Given the description of an element on the screen output the (x, y) to click on. 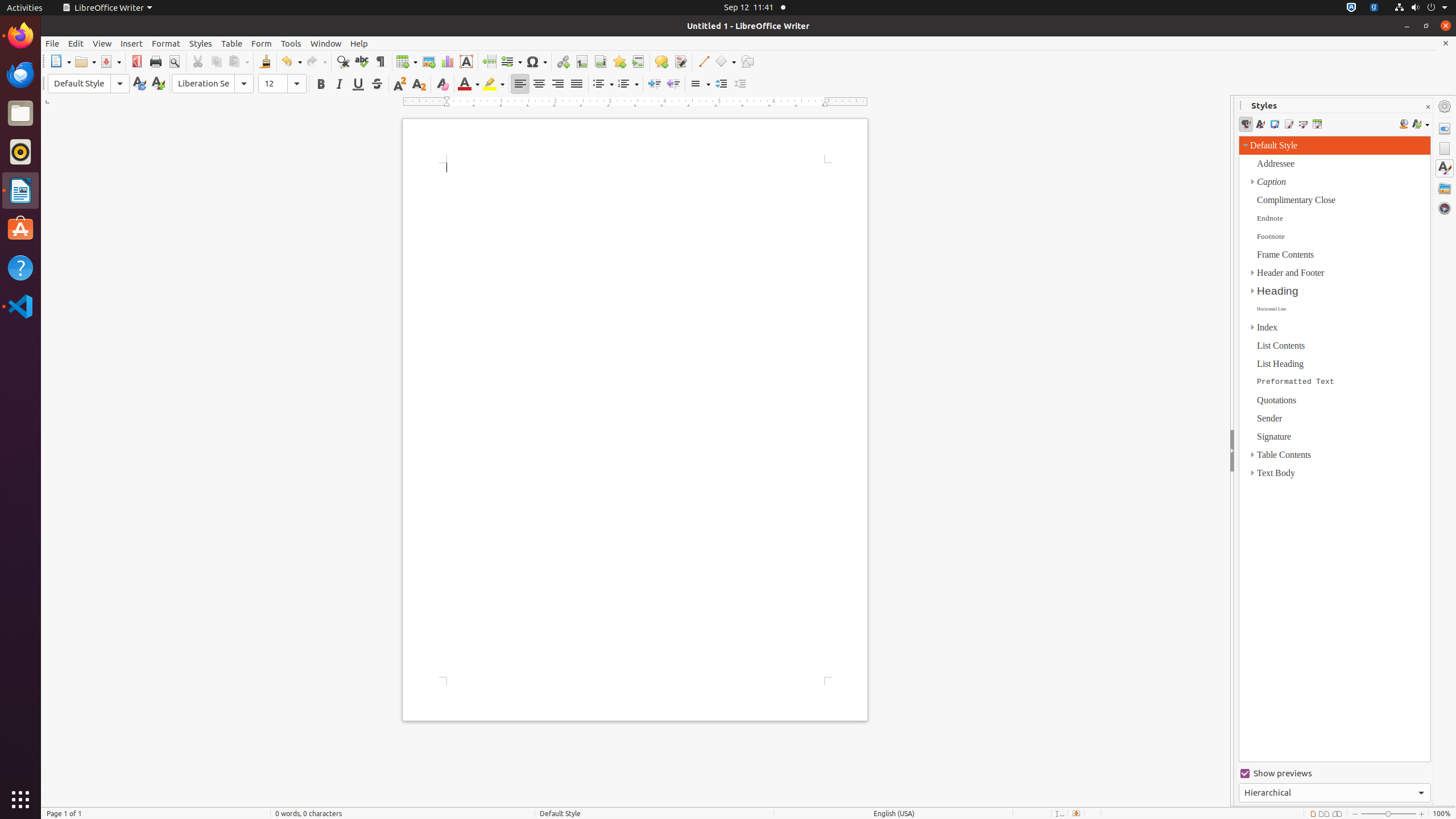
Line Spacing Element type: push-button (699, 83)
Endnote Element type: push-button (599, 61)
Footnote Element type: push-button (581, 61)
View Element type: menu (102, 43)
Decrease Element type: push-button (739, 83)
